Given the description of an element on the screen output the (x, y) to click on. 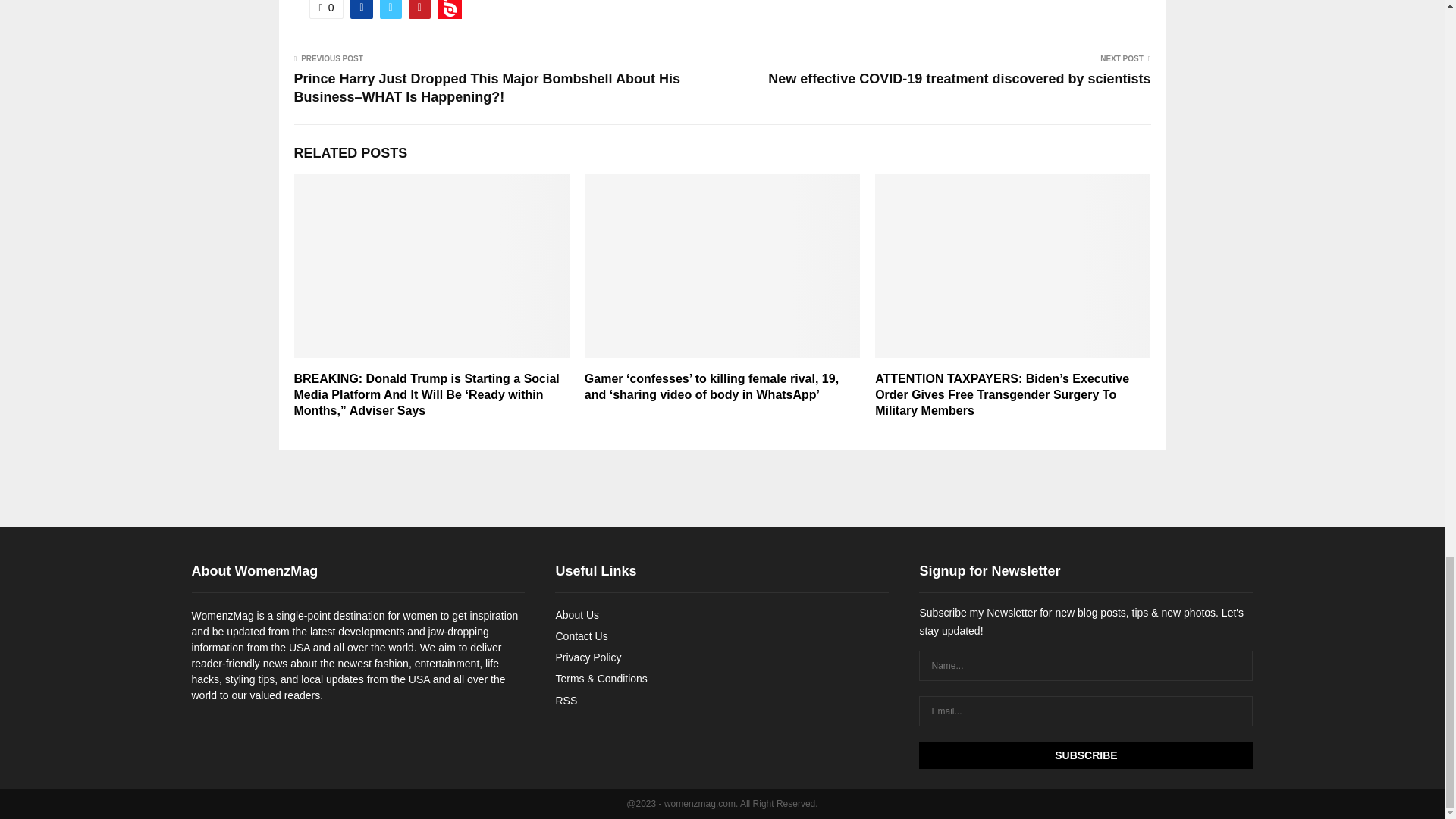
Subscribe (1085, 755)
New effective COVID-19 treatment discovered by scientists (959, 78)
0 (325, 9)
